Given the description of an element on the screen output the (x, y) to click on. 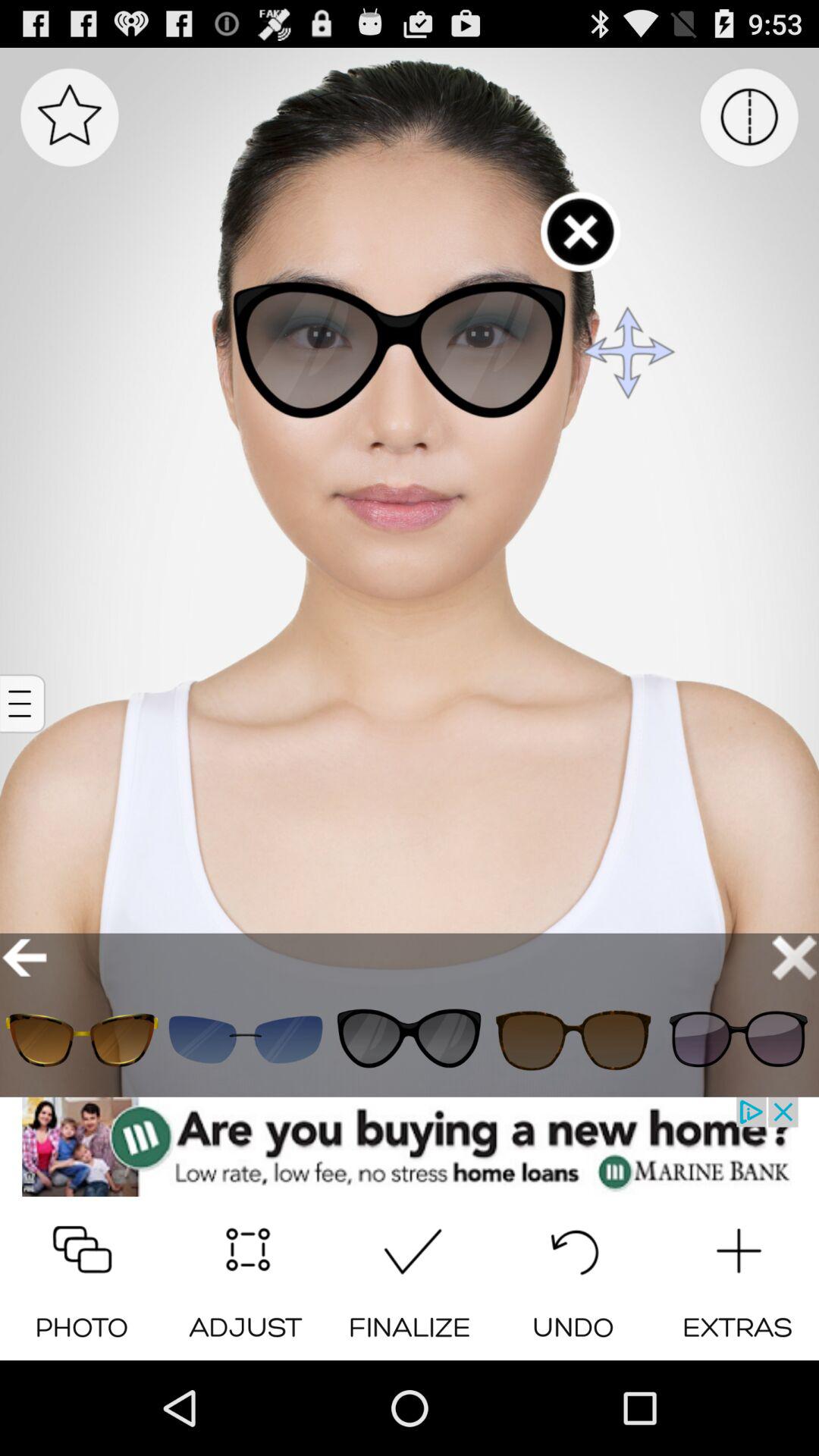
glass (81, 1039)
